Given the description of an element on the screen output the (x, y) to click on. 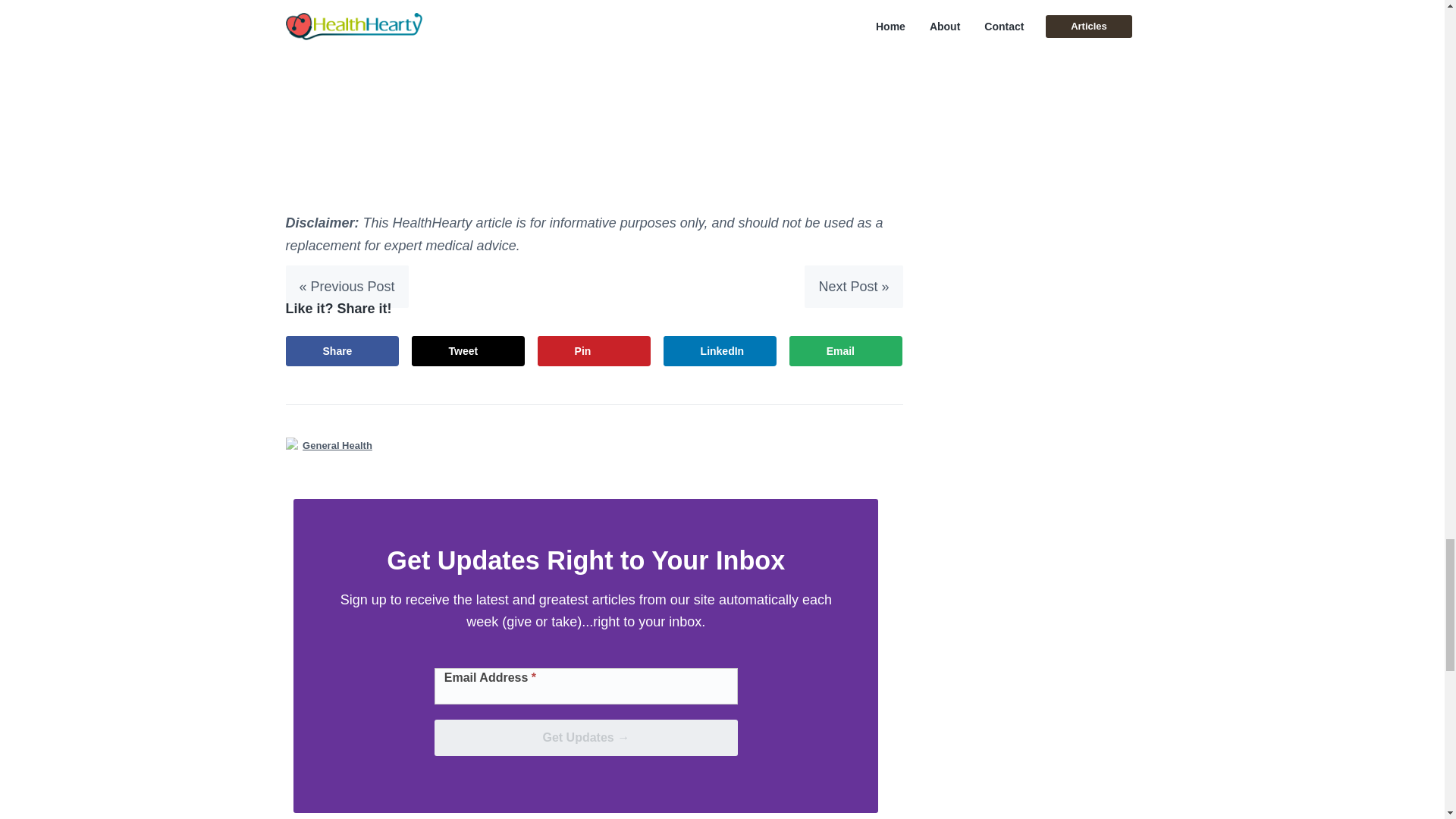
Send over email (845, 350)
LinkedIn (720, 350)
Share on X (468, 350)
Save to Pinterest (593, 350)
Share (341, 350)
Email (845, 350)
Pin (593, 350)
Share on Facebook (341, 350)
General Health (337, 445)
Tweet (468, 350)
Share on LinkedIn (720, 350)
